Given the description of an element on the screen output the (x, y) to click on. 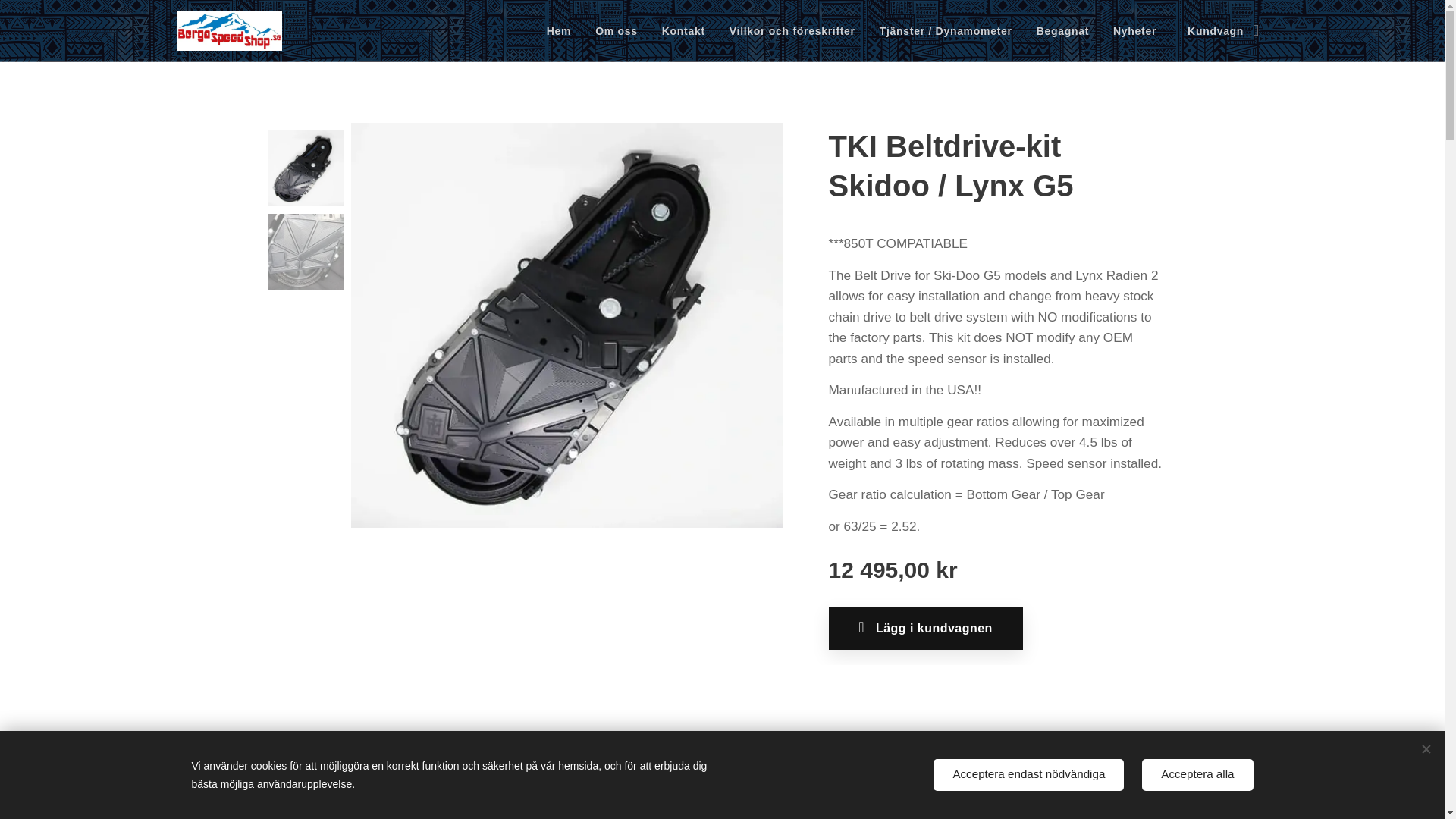
Kontakt (683, 30)
Kundvagn (1218, 30)
Hem (563, 30)
Acceptera alla (1196, 774)
Nyheter (1134, 30)
Om oss (616, 30)
Begagnat (1062, 30)
